Given the description of an element on the screen output the (x, y) to click on. 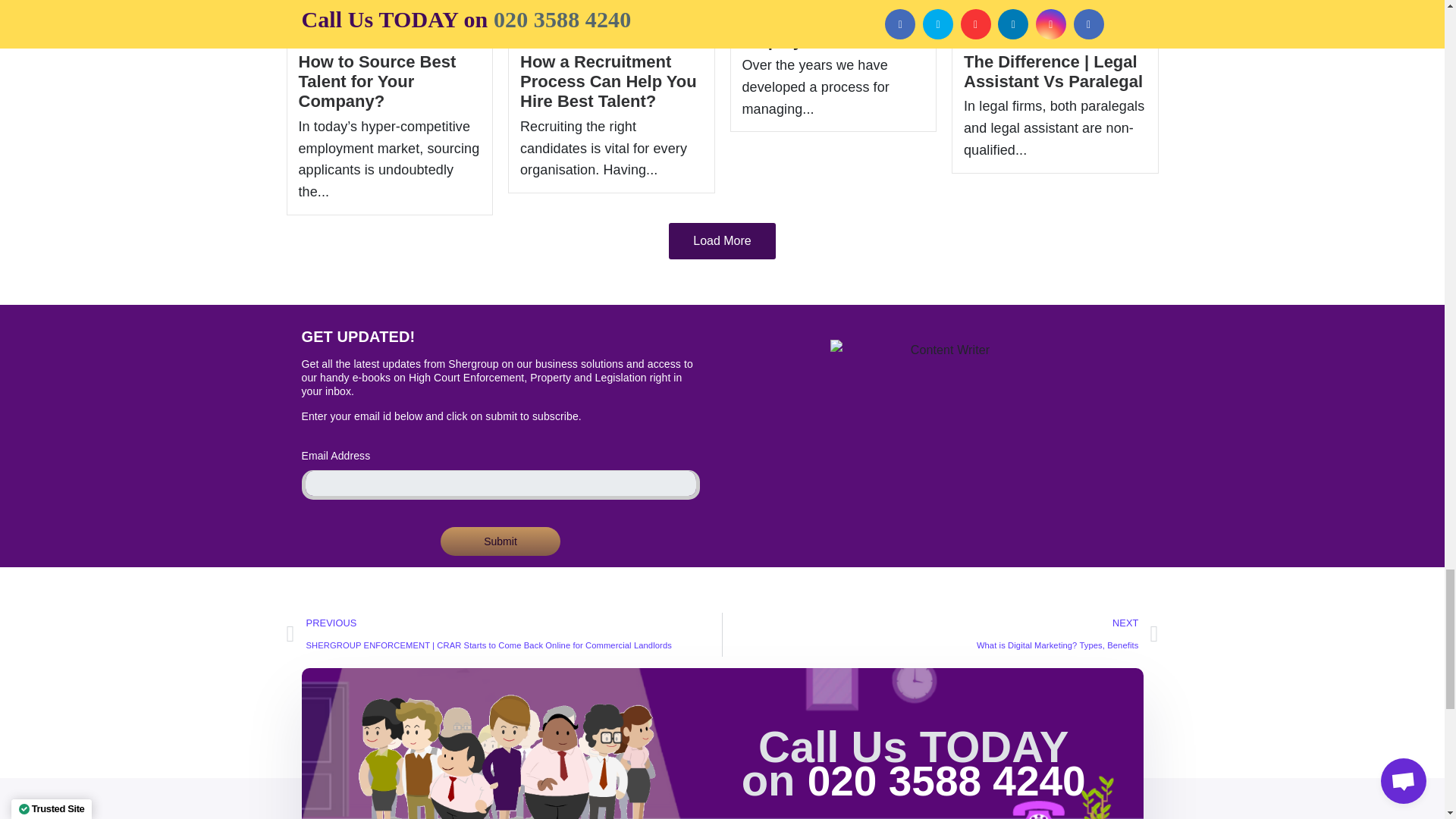
How to Source Best Talent for Your Company? (377, 81)
How a Recruitment Process Can Help You Hire Best Talent? (608, 81)
